Given the description of an element on the screen output the (x, y) to click on. 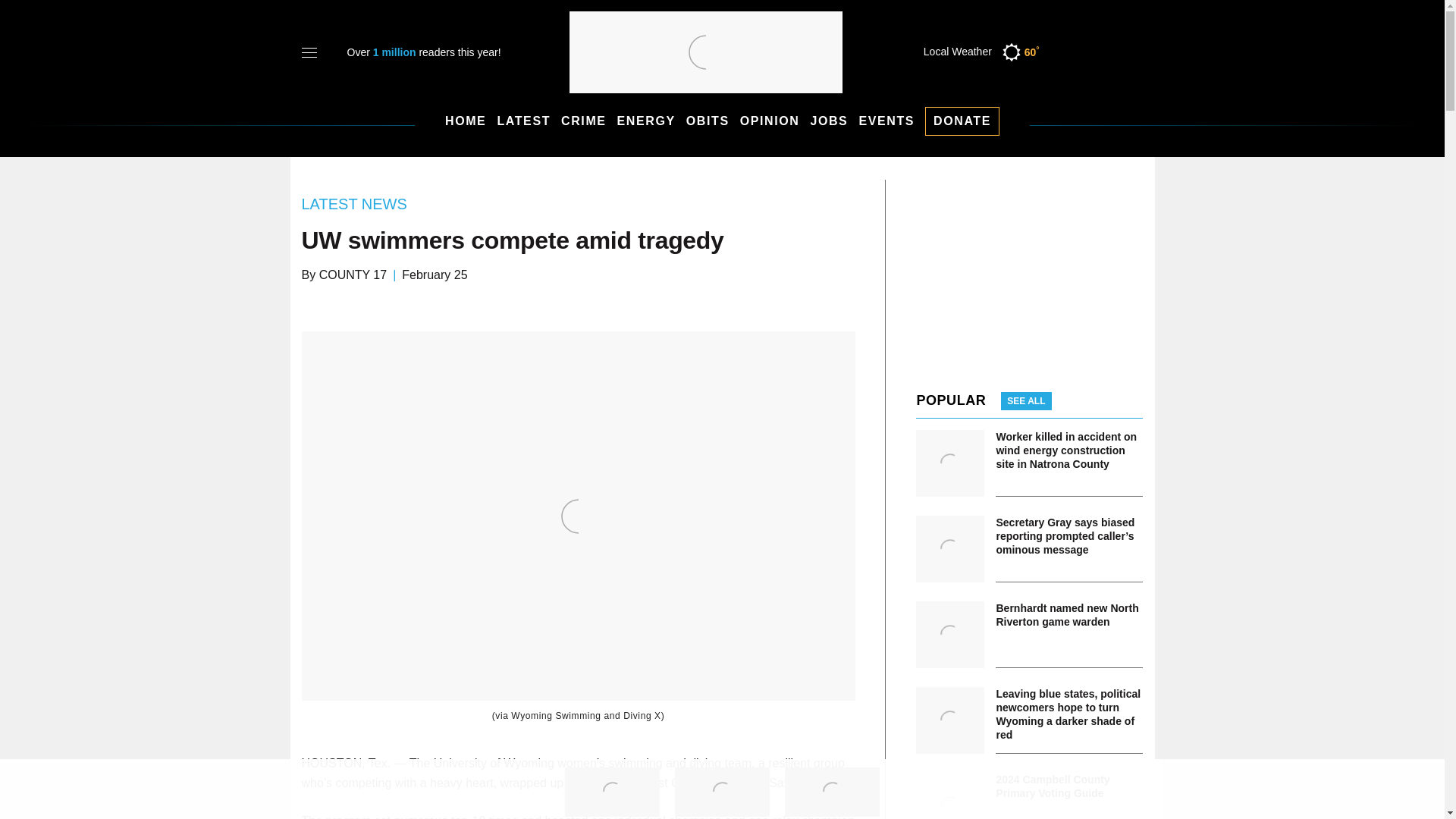
1 million (395, 51)
Crime (583, 121)
Home (465, 121)
Latest (523, 121)
Energy (646, 121)
Jobs (828, 121)
Obits (707, 121)
Events (886, 121)
Opinion (769, 121)
